Given the description of an element on the screen output the (x, y) to click on. 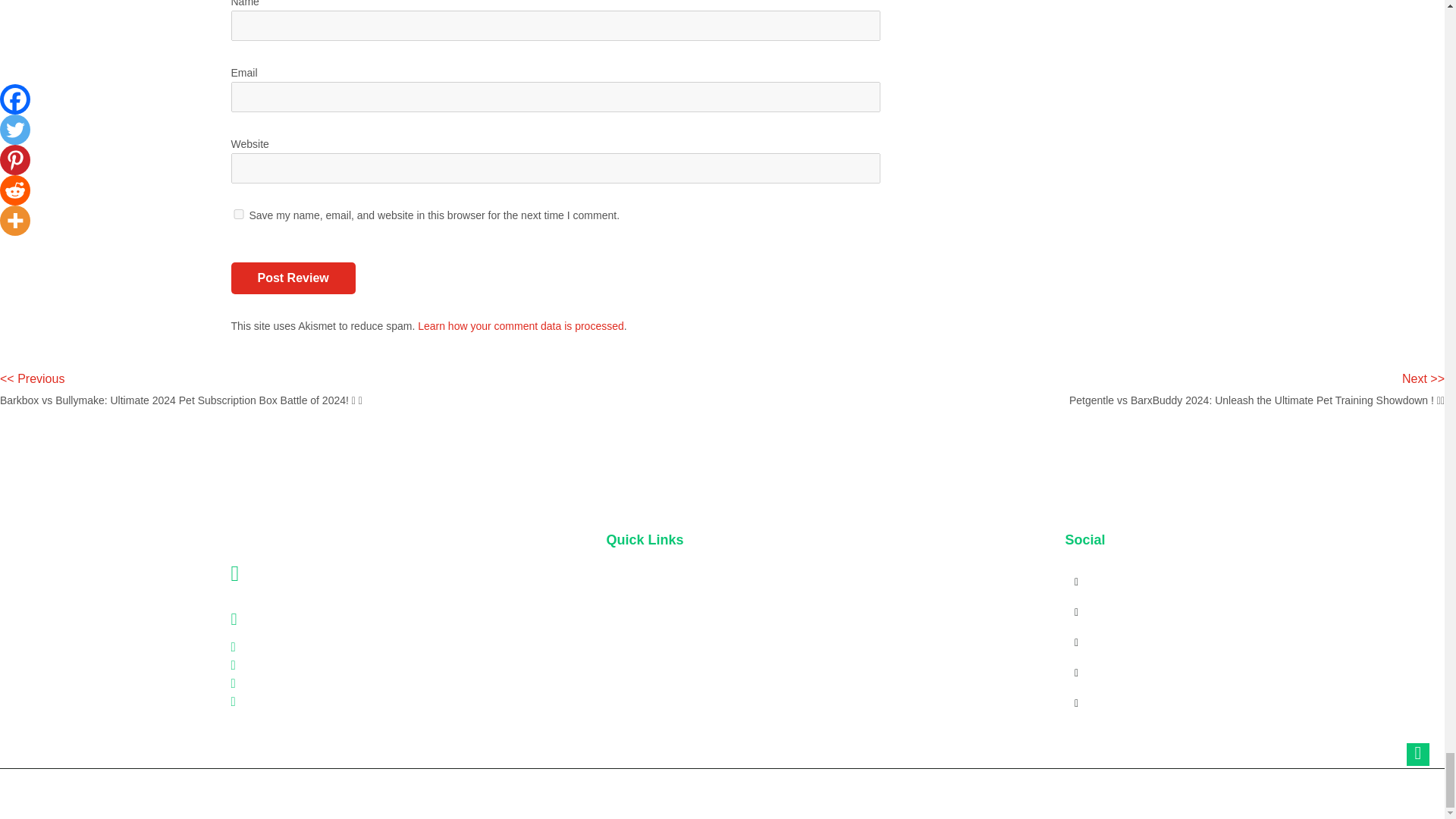
yes (238, 214)
Post Review (292, 278)
